Given the description of an element on the screen output the (x, y) to click on. 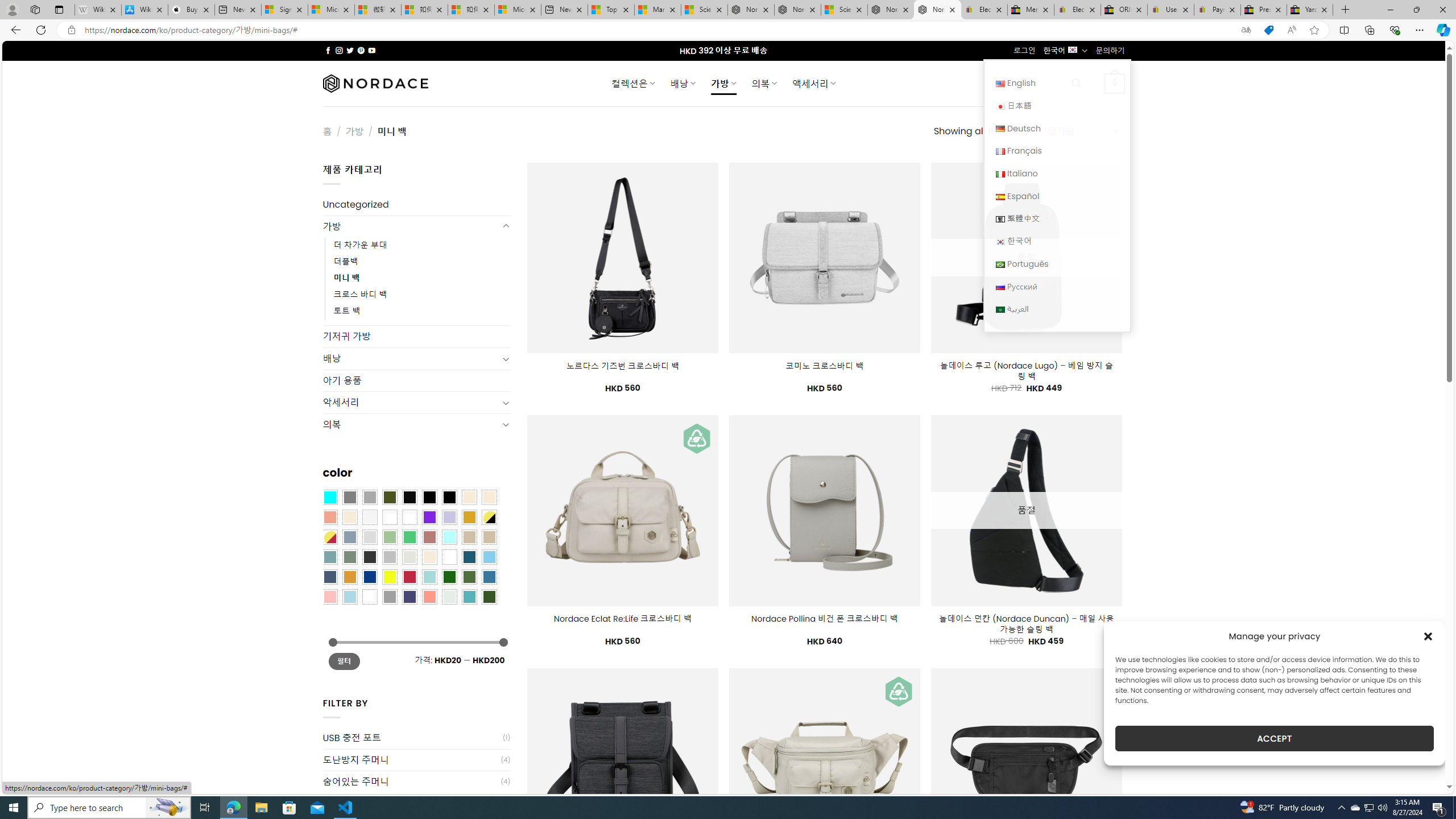
Class: cmplz-close (1428, 636)
Italiano (999, 173)
Uncategorized (416, 204)
